Given the description of an element on the screen output the (x, y) to click on. 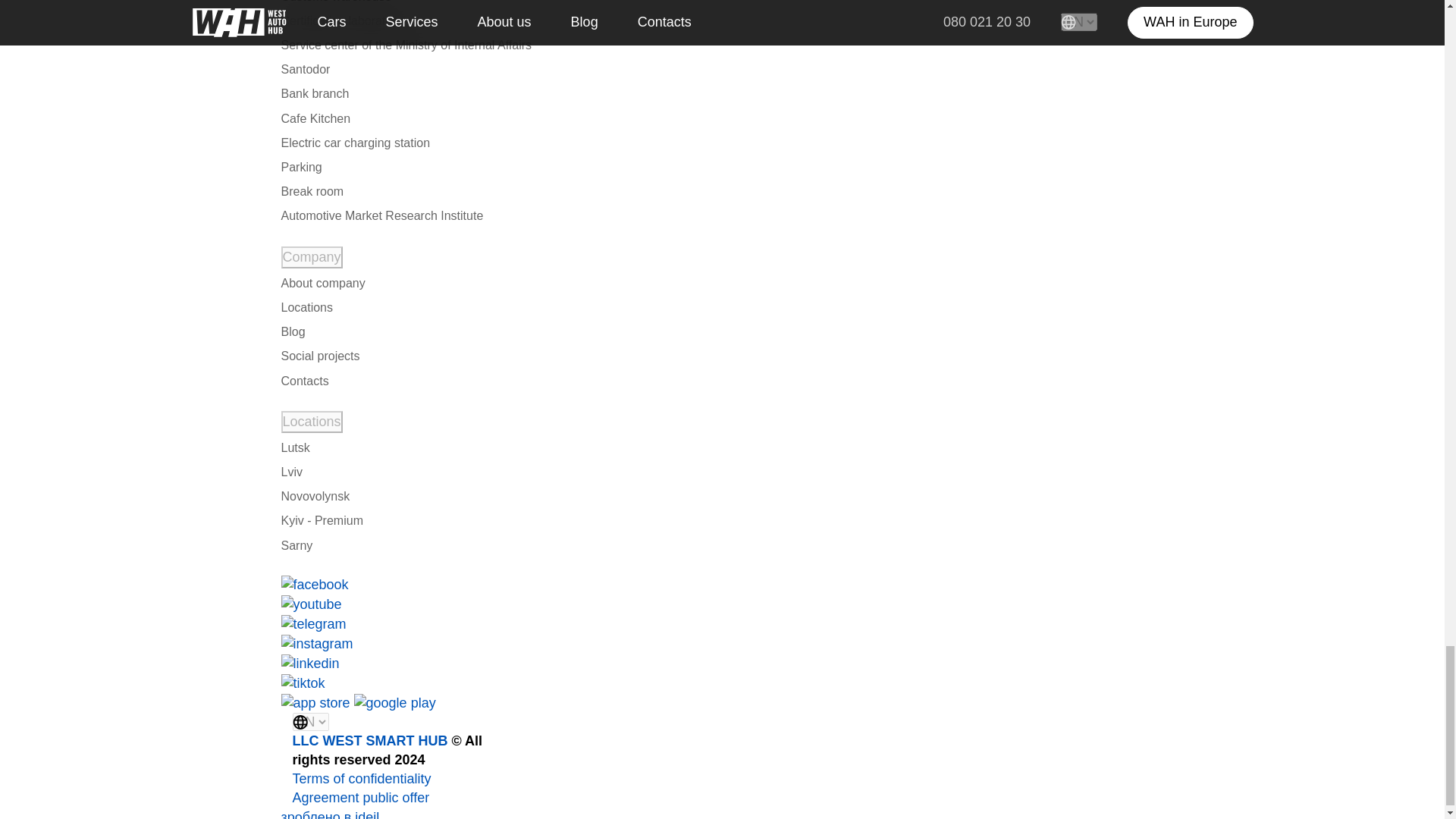
Customs warehouse (337, 3)
Certification laboratory (342, 20)
